Given the description of an element on the screen output the (x, y) to click on. 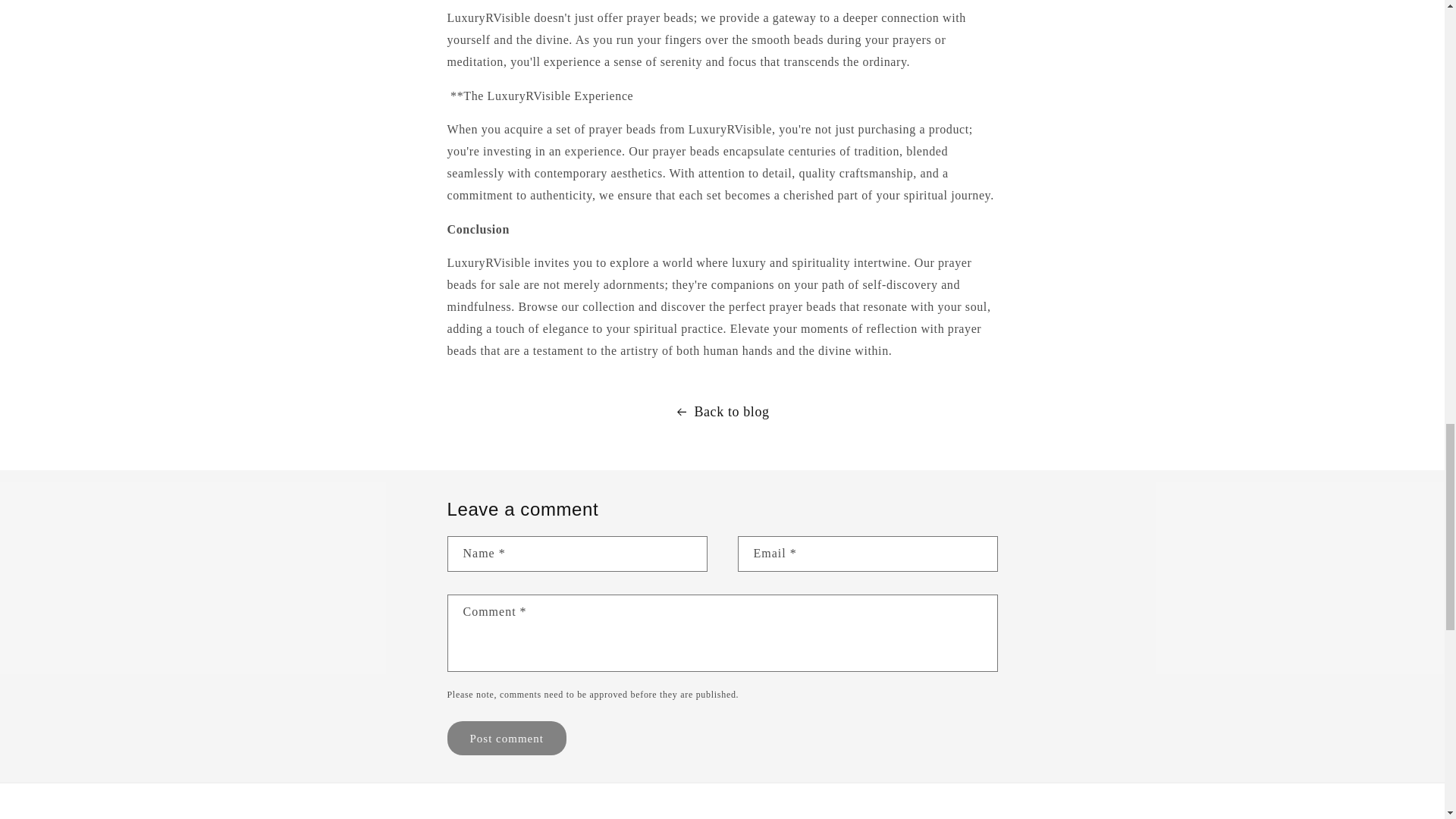
Post comment (506, 738)
